Given the description of an element on the screen output the (x, y) to click on. 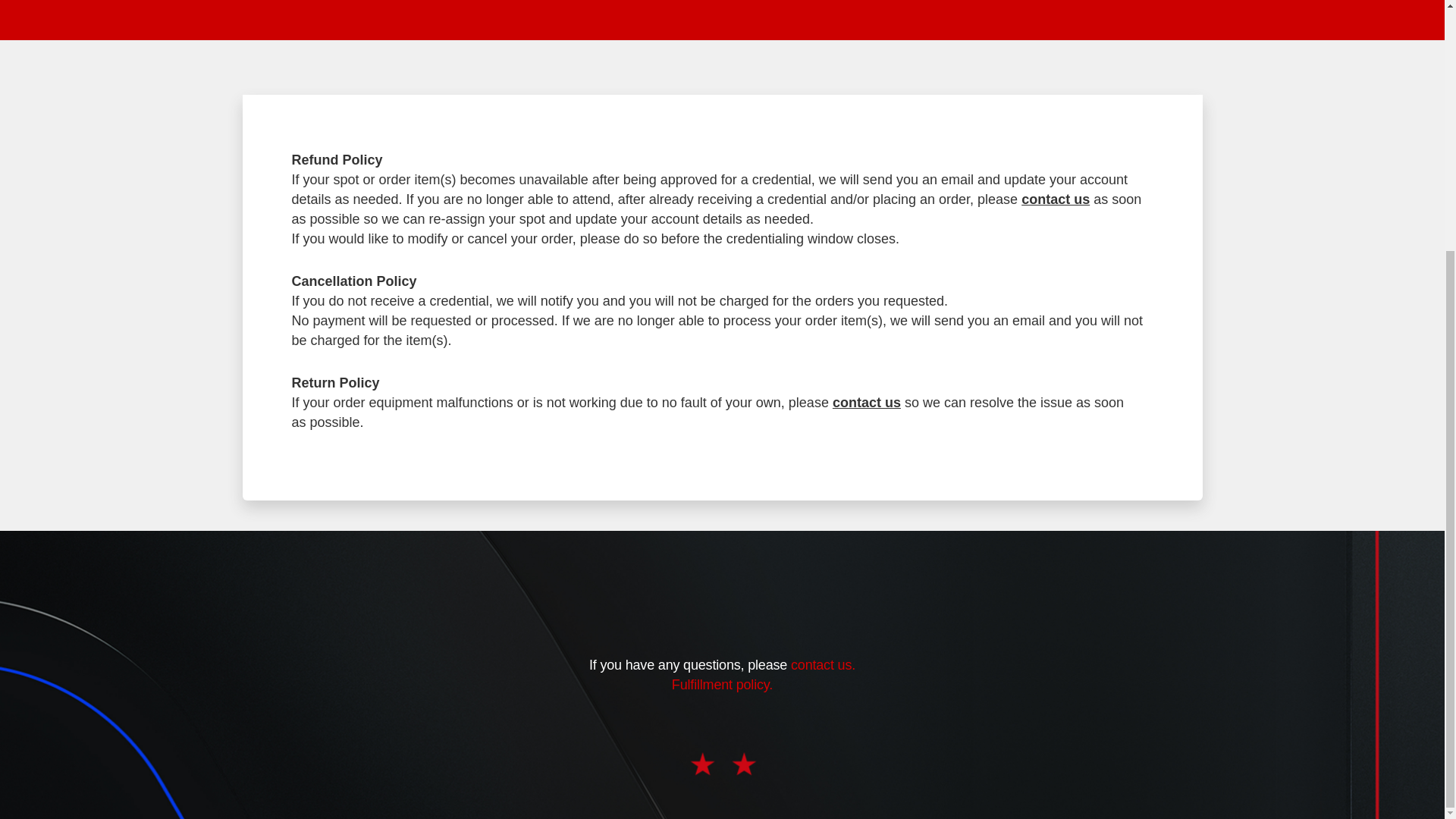
Fulfillment policy. (722, 684)
contact us (866, 402)
contact us. (823, 664)
contact us (1055, 199)
